Given the description of an element on the screen output the (x, y) to click on. 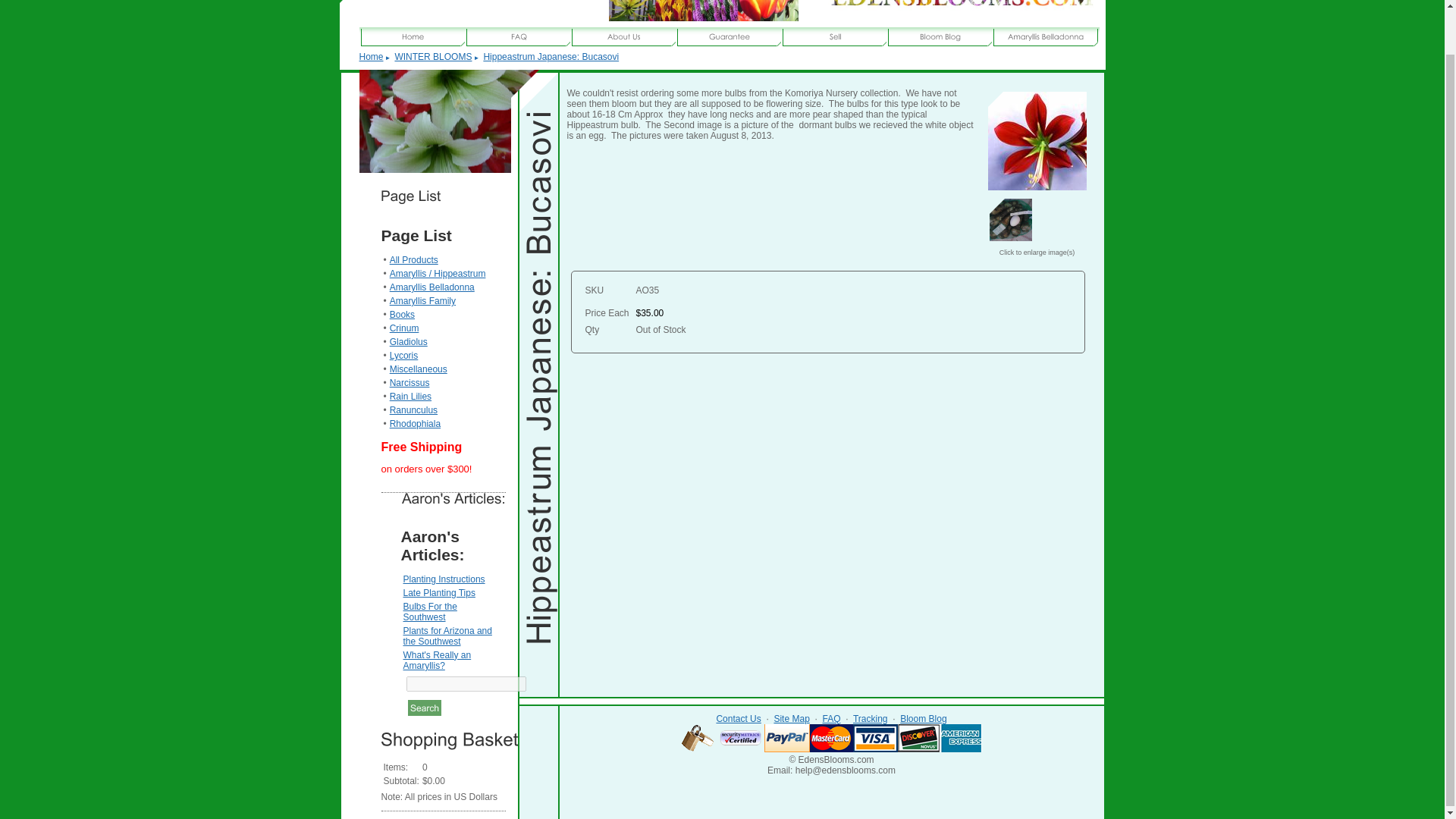
Rain Lilies (410, 396)
FAQ (831, 718)
Bloom Blog (922, 718)
Narcissus (409, 382)
Books (402, 314)
Plants for Arizona and the Southwest (447, 636)
Amaryllis Belladonna (432, 286)
Contact Us (738, 718)
Hippeastrum Japanese: Bucasovi (1036, 140)
Bulbs For the Southwest (430, 611)
Site Map (791, 718)
Rhodophiala (415, 423)
Miscellaneous (418, 368)
Gladiolus (409, 341)
Late Planting Tips (439, 593)
